Given the description of an element on the screen output the (x, y) to click on. 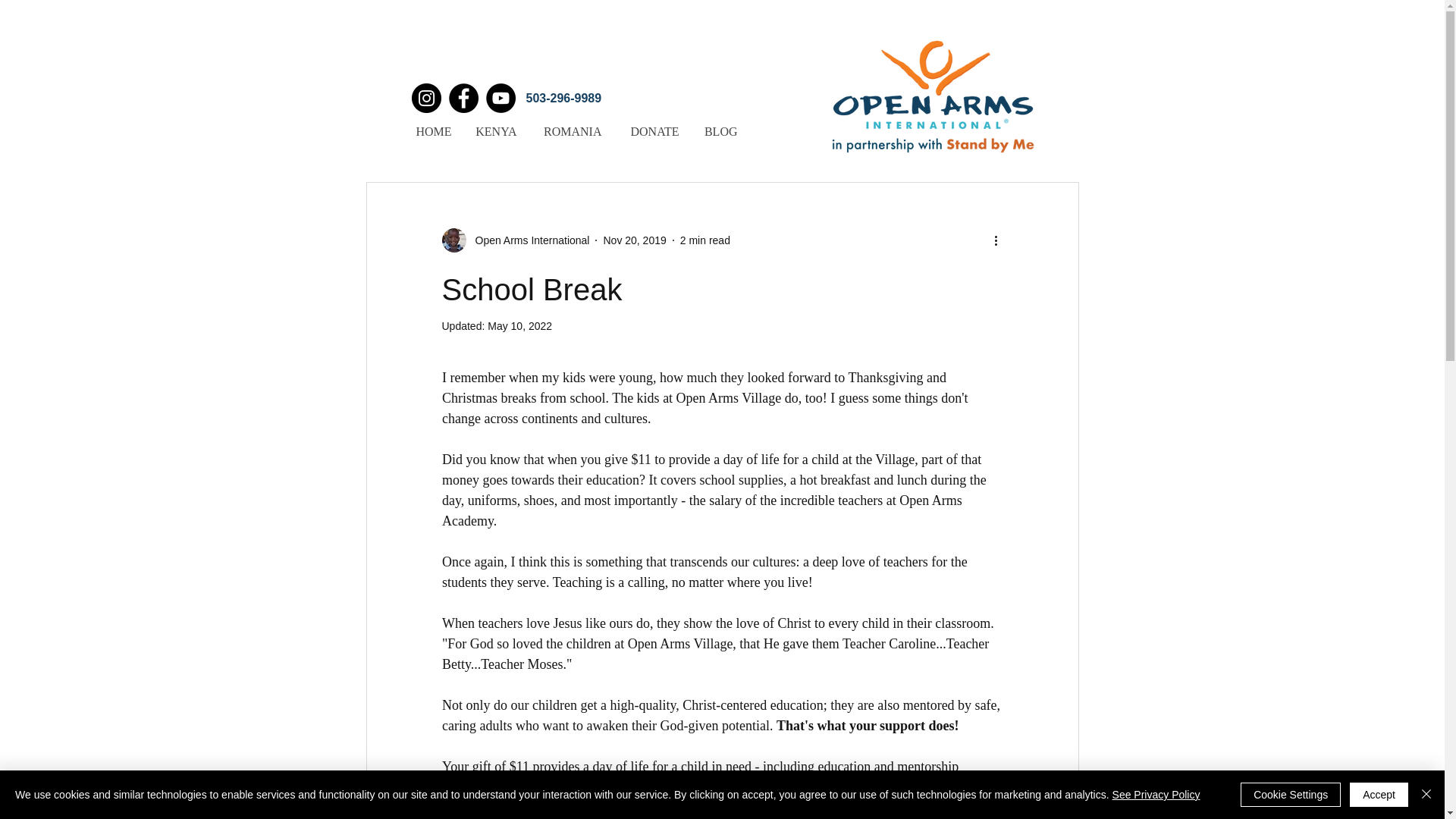
ROMANIA (569, 131)
DONATE (651, 131)
HOME (432, 131)
May 10, 2022 (519, 326)
BLOG (719, 131)
Open Arms International (527, 239)
KENYA (495, 131)
2 min read (704, 239)
Nov 20, 2019 (633, 239)
